Given the description of an element on the screen output the (x, y) to click on. 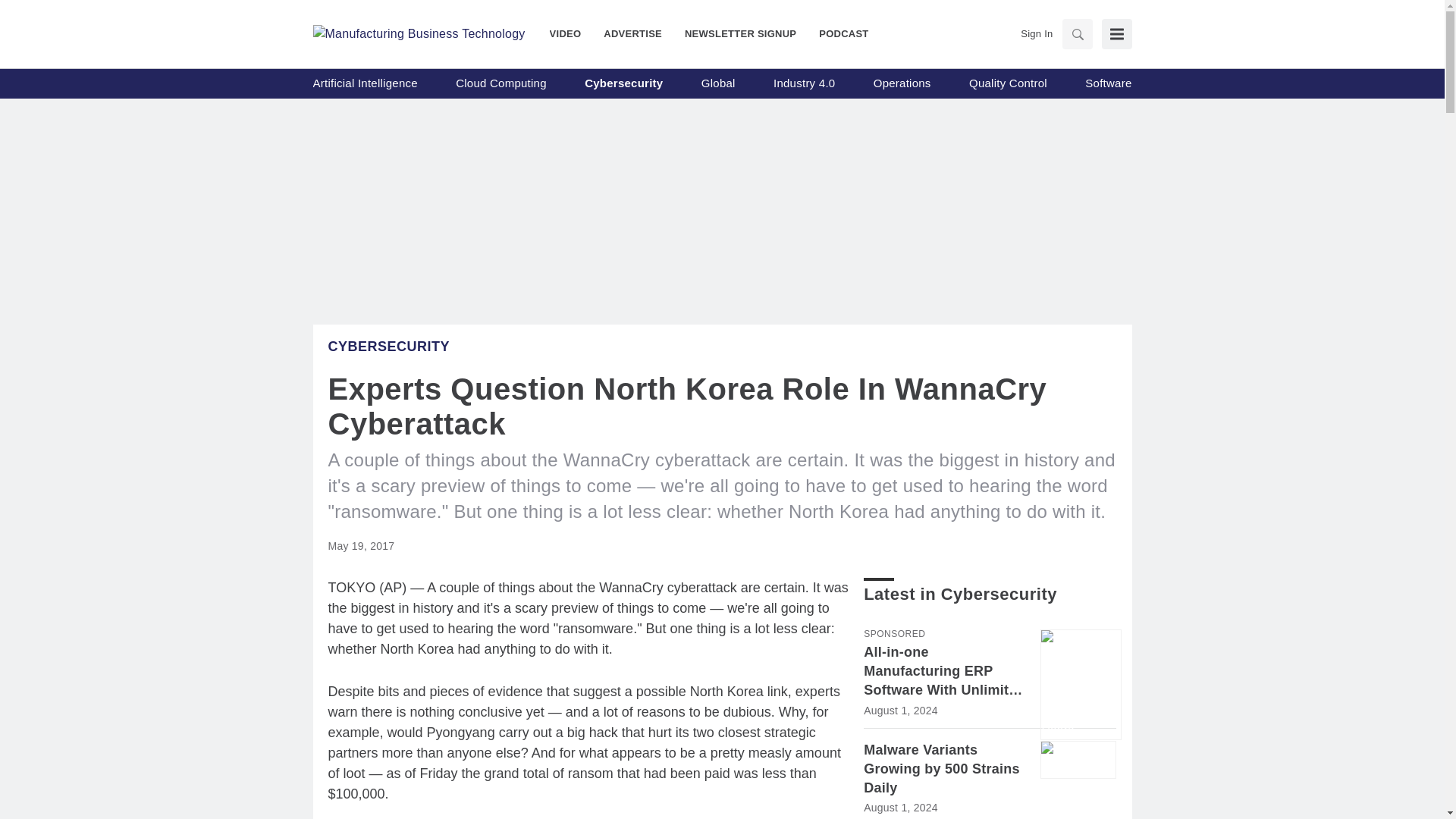
VIDEO (571, 33)
ADVERTISE (632, 33)
Global (718, 83)
Industry 4.0 (803, 83)
PODCAST (837, 33)
Artificial Intelligence (364, 83)
Quality Control (1007, 83)
NEWSLETTER SIGNUP (740, 33)
Software (1107, 83)
Operations (902, 83)
Sign In (1036, 33)
Cloud Computing (501, 83)
Cybersecurity (623, 83)
Sponsored (893, 633)
Cybersecurity (388, 346)
